Given the description of an element on the screen output the (x, y) to click on. 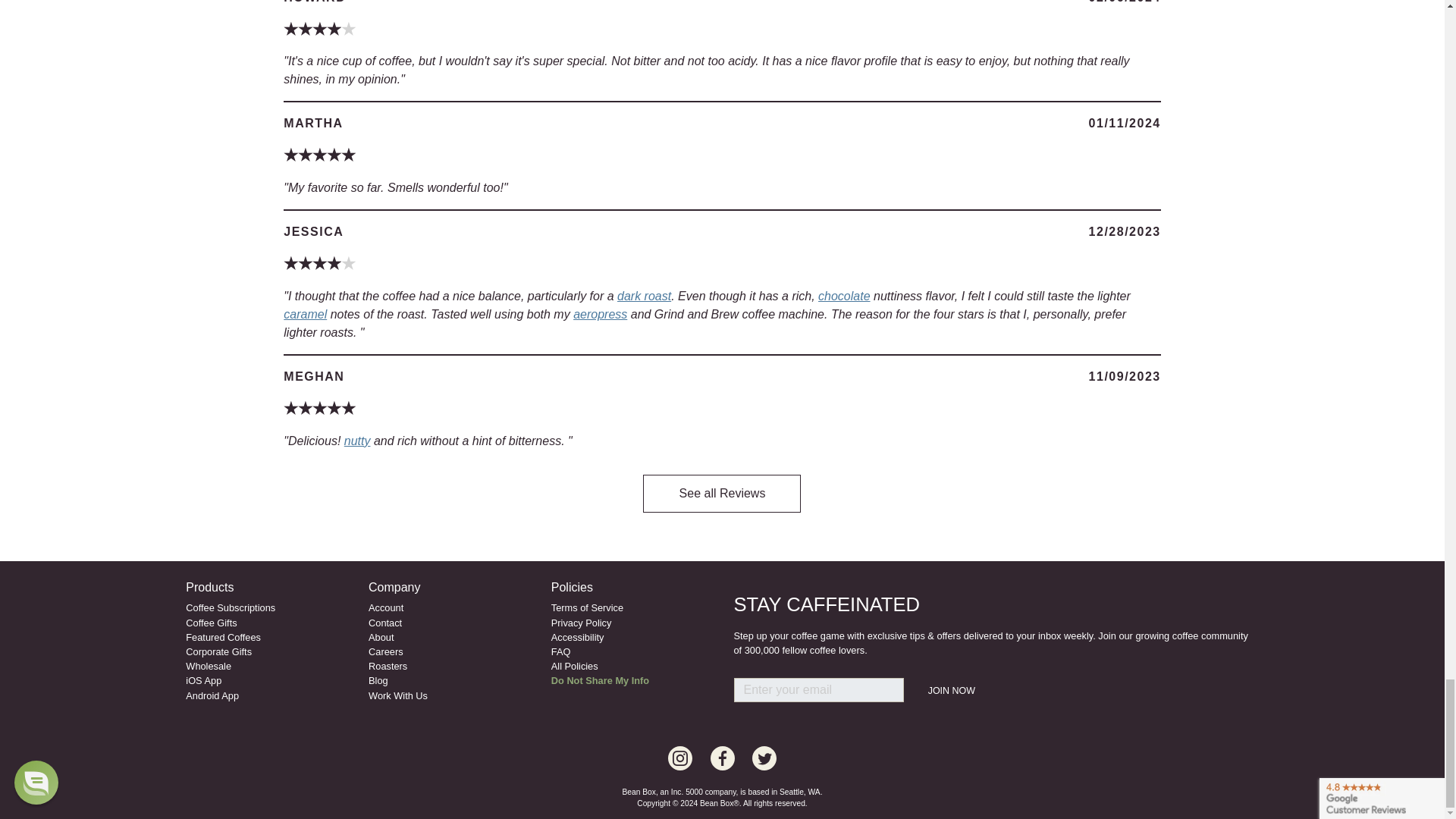
Follow Bean Box on Twitter (764, 758)
Follow Bean Box on Instagram (721, 758)
Follow Bean Box on Instagram (680, 758)
